Given the description of an element on the screen output the (x, y) to click on. 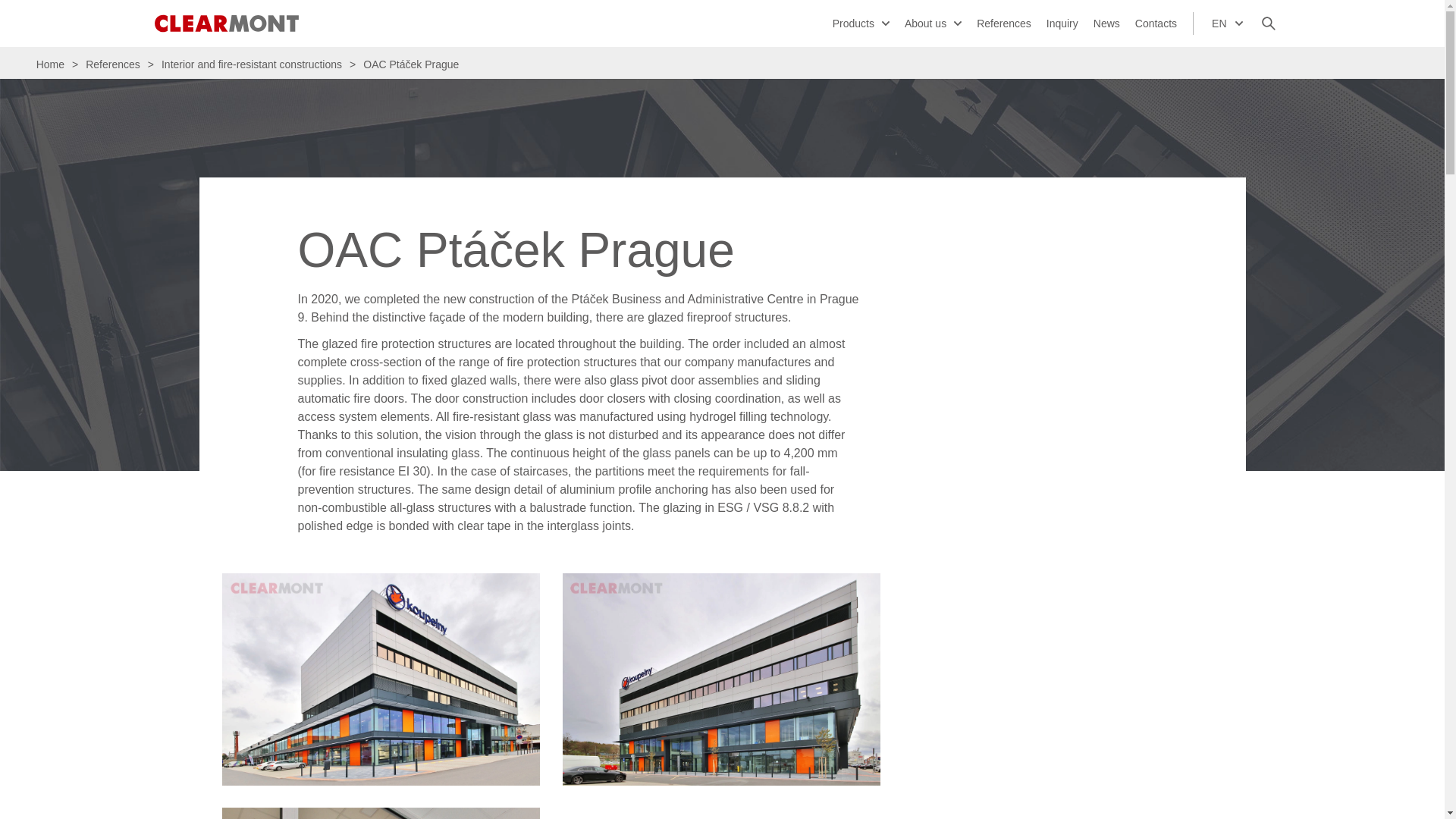
News (1106, 23)
References (113, 64)
Go to - News (1106, 23)
Go to - References (1004, 23)
Home (53, 64)
Show submenu for Language versions (1237, 23)
Go to - Contacts (1155, 23)
Inquiry (1062, 23)
Go to homepage (225, 23)
Contacts (1155, 23)
Go to - Inquiry (1062, 23)
Start searching (1268, 23)
EN (1227, 23)
Interior and fire-resistant constructions (251, 64)
References (1004, 23)
